Given the description of an element on the screen output the (x, y) to click on. 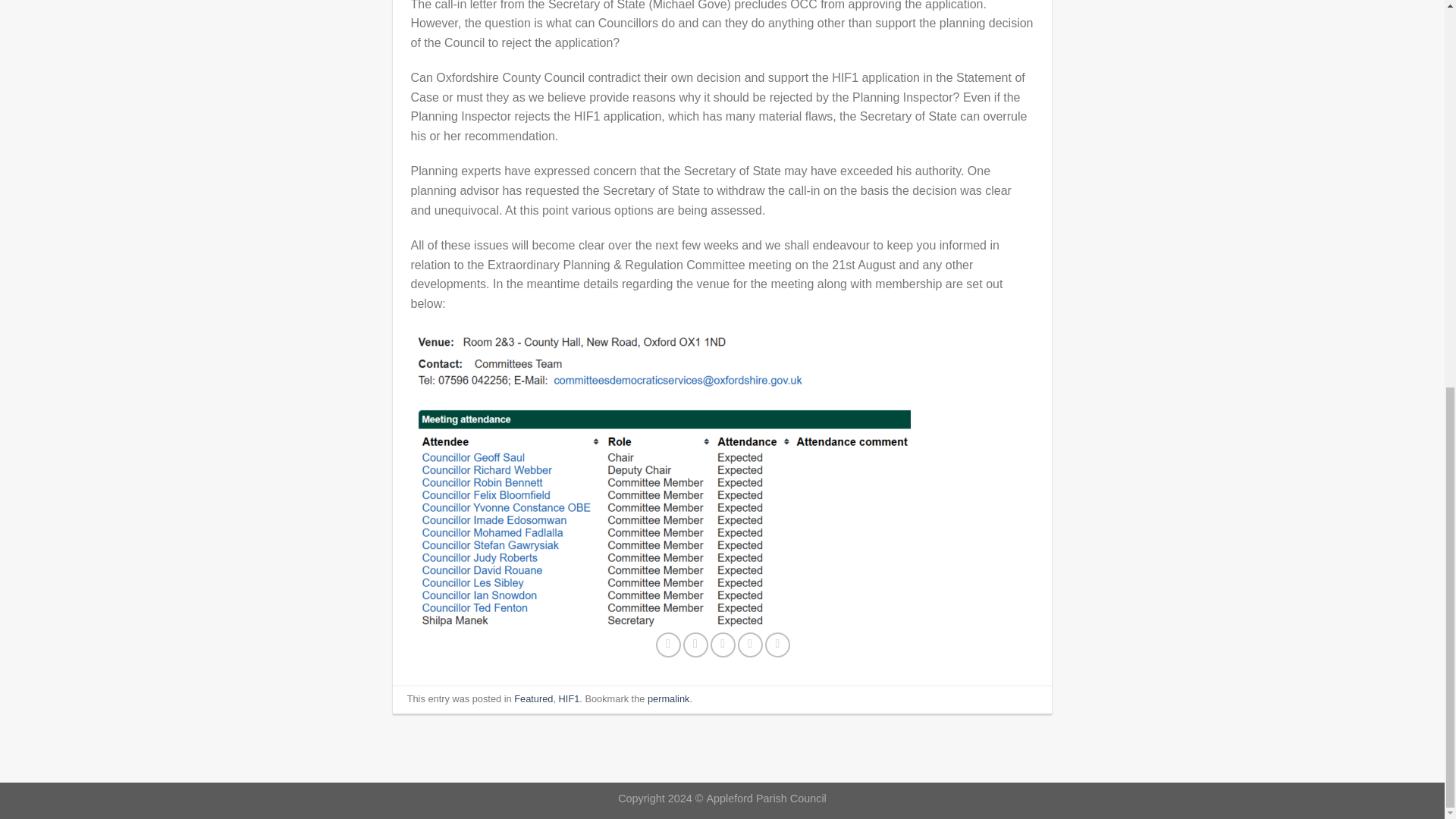
Share on LinkedIn (777, 644)
HIF1 (569, 698)
Pin on Pinterest (750, 644)
Share on Twitter (694, 644)
permalink (667, 698)
Email to a Friend (722, 644)
Featured (533, 698)
Share on Facebook (668, 644)
